Given the description of an element on the screen output the (x, y) to click on. 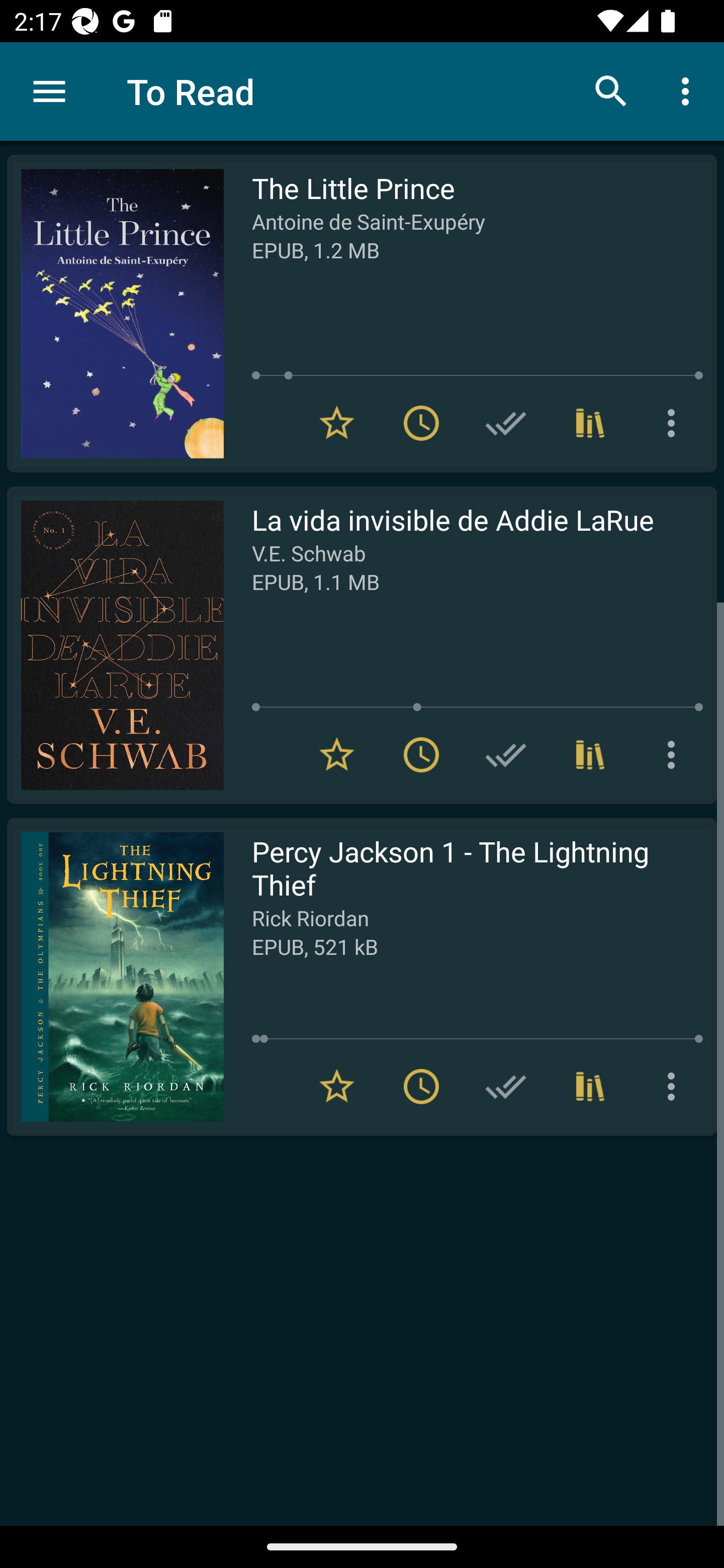
Menu (49, 91)
Search books & documents (611, 90)
More options (688, 90)
Read The Little Prince (115, 313)
Remove from Favorites (336, 423)
Remove from To read (421, 423)
Add to Have read (505, 423)
Collections (1) (590, 423)
More options (674, 423)
Read La vida invisible de Addie LaRue (115, 645)
Remove from Favorites (336, 753)
Remove from To read (421, 753)
Add to Have read (505, 753)
Collections (1) (590, 753)
More options (674, 753)
Read Percy Jackson 1 - The Lightning Thief (115, 976)
Remove from Favorites (336, 1086)
Remove from To read (421, 1086)
Add to Have read (505, 1086)
Collections (1) (590, 1086)
More options (674, 1086)
